Given the description of an element on the screen output the (x, y) to click on. 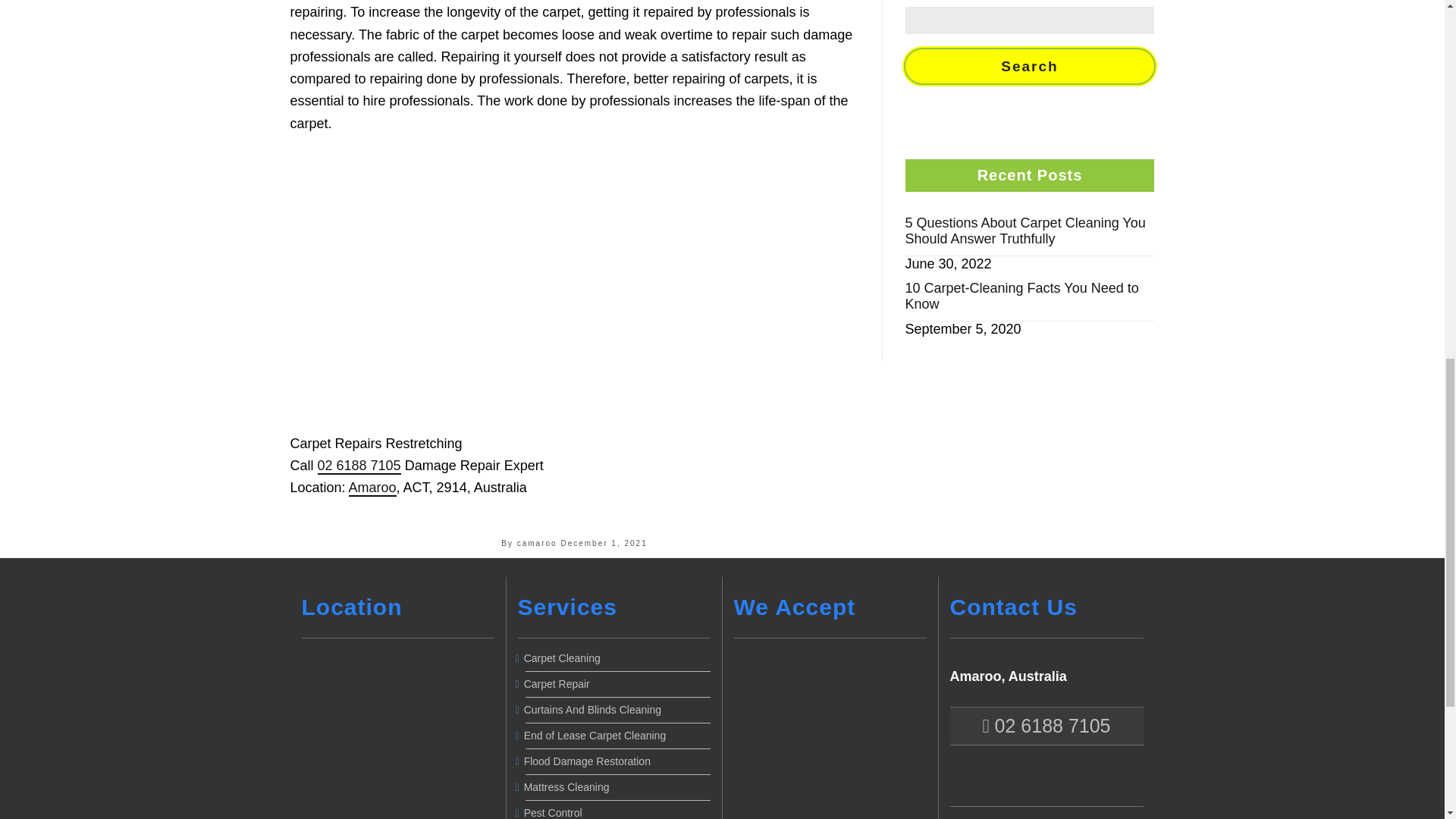
Search (1029, 66)
Search (1029, 66)
Amaroo (372, 487)
02 6188 7105 (359, 466)
